Given the description of an element on the screen output the (x, y) to click on. 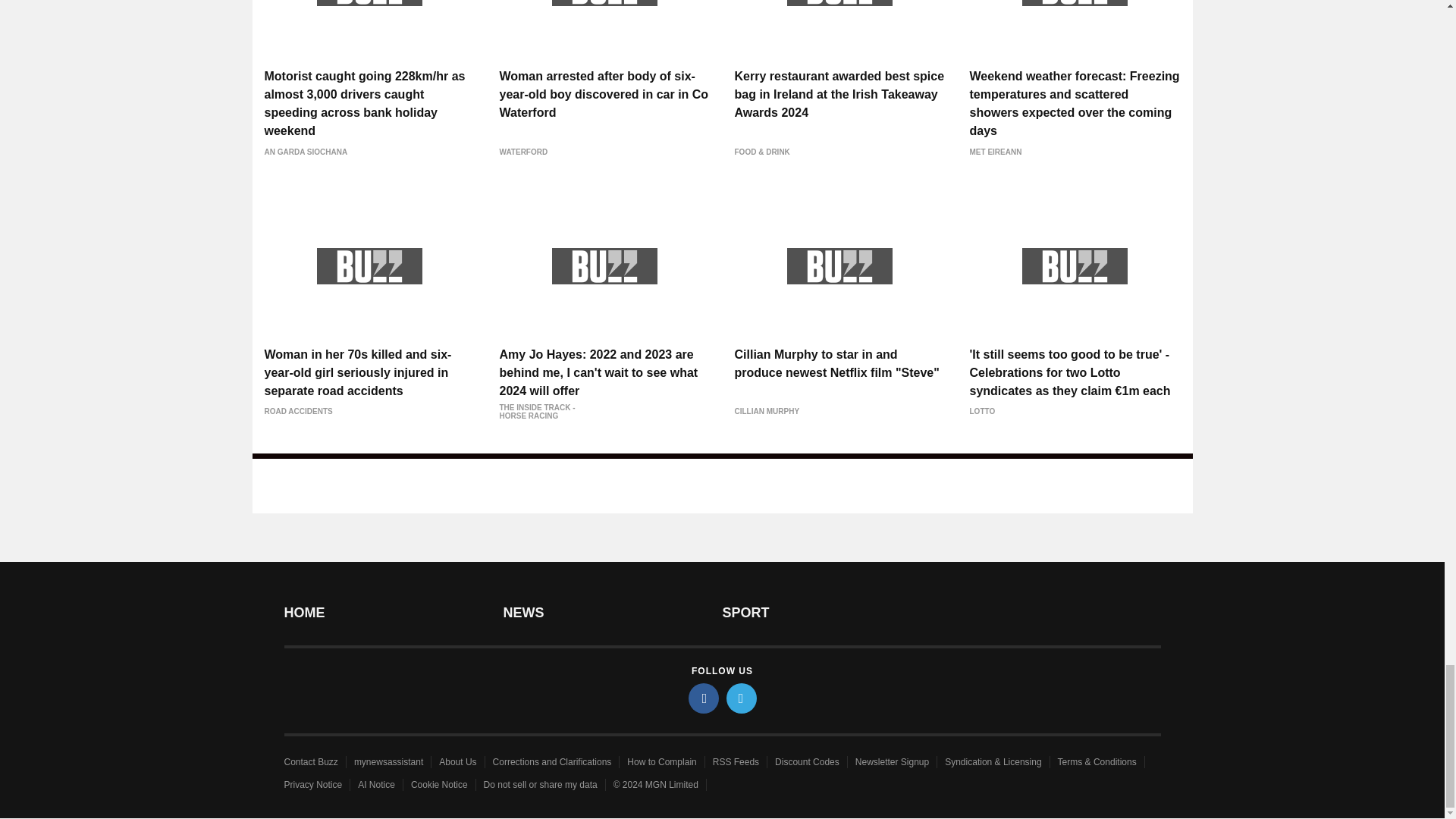
facebook (703, 698)
